Given the description of an element on the screen output the (x, y) to click on. 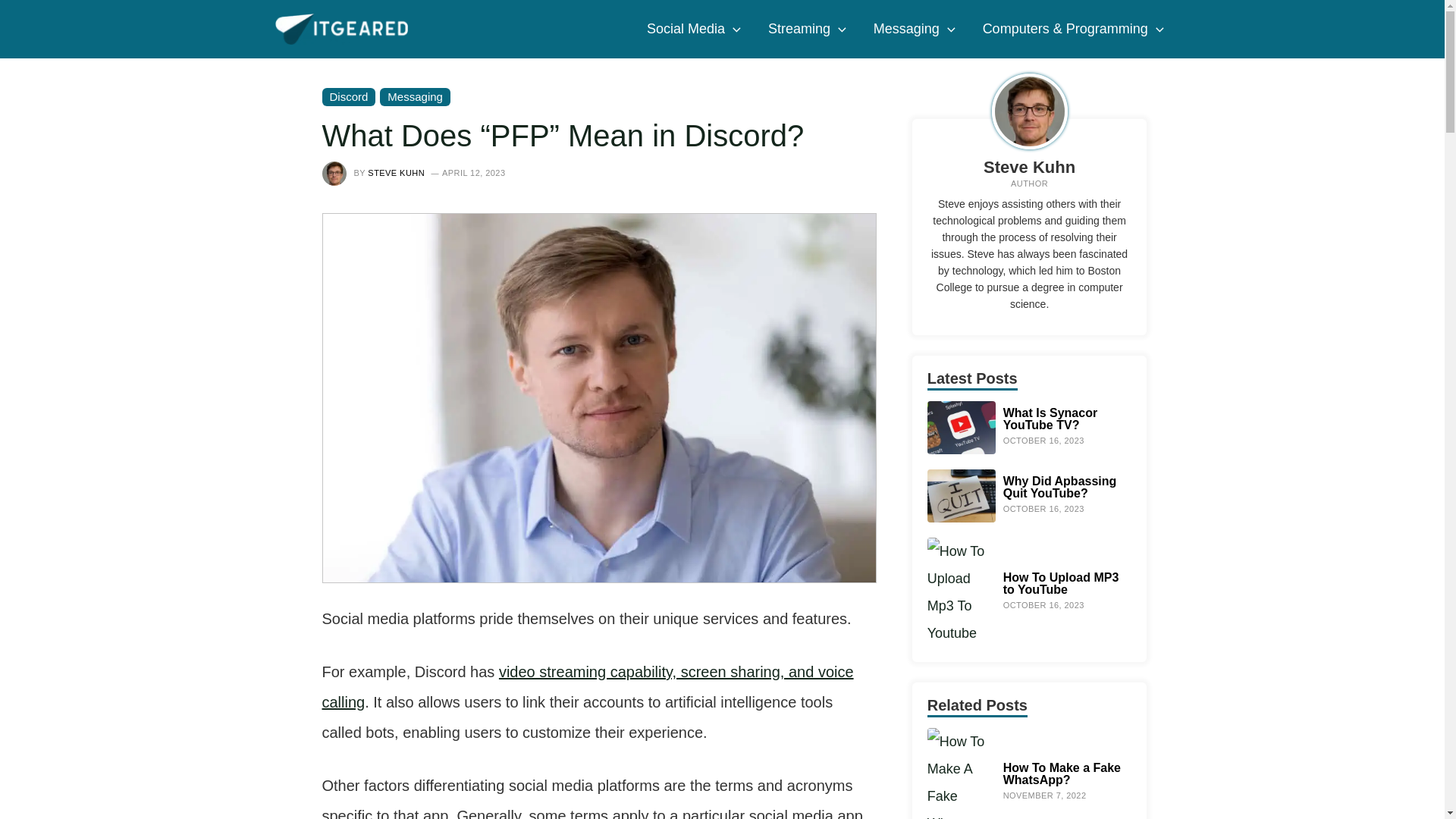
Messaging (914, 28)
Streaming (807, 28)
Social Media (693, 28)
